Given the description of an element on the screen output the (x, y) to click on. 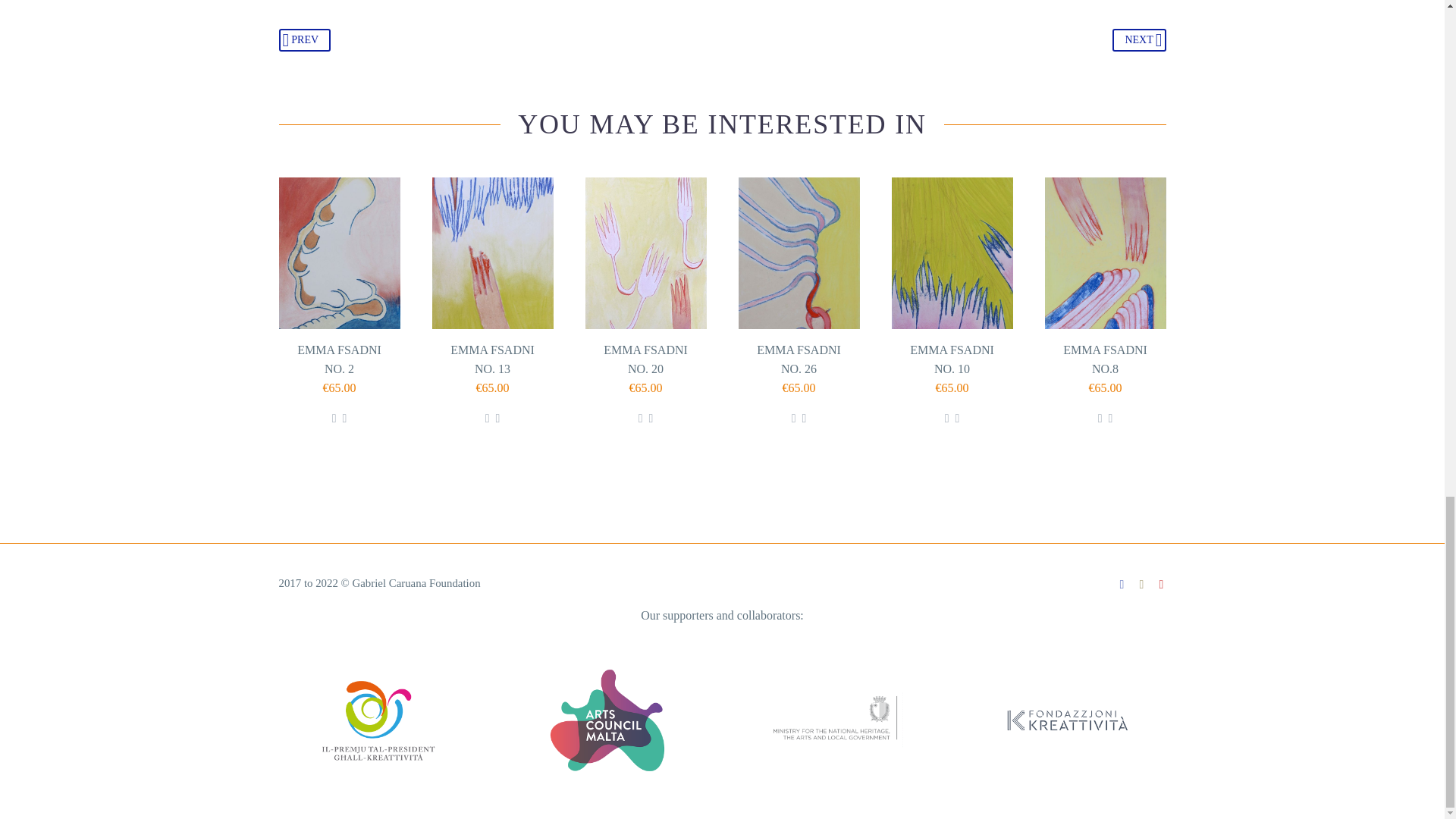
instagram (1141, 584)
facebook (1122, 584)
youtube (1161, 584)
